Given the description of an element on the screen output the (x, y) to click on. 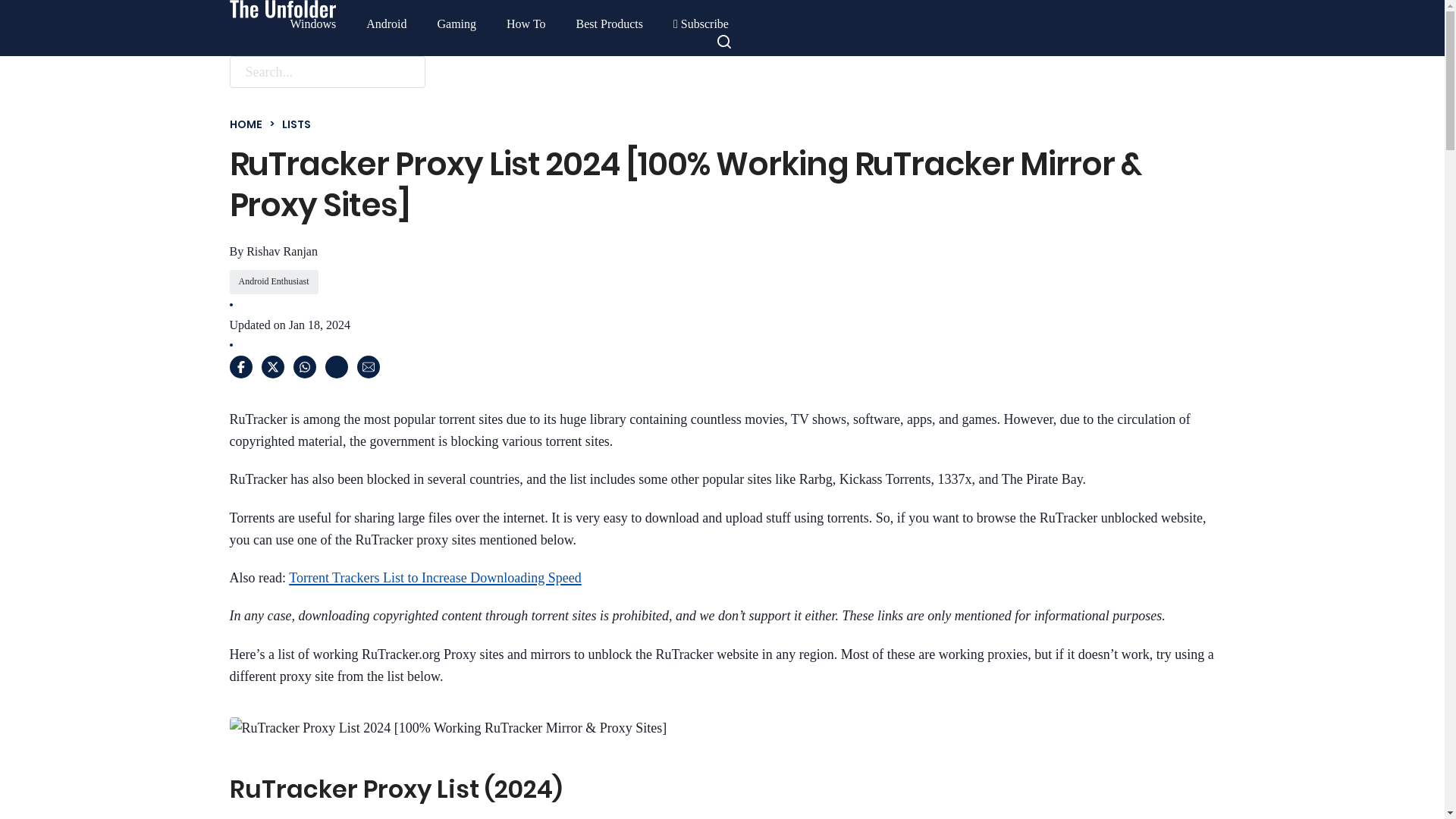
HOME (245, 124)
Android (386, 24)
Torrent Trackers List to Increase Downloading Speed (434, 577)
How To (525, 24)
LISTS (296, 124)
Gaming (457, 24)
Rishav Ranjan (281, 250)
Best Products (609, 24)
Windows (312, 24)
